Given the description of an element on the screen output the (x, y) to click on. 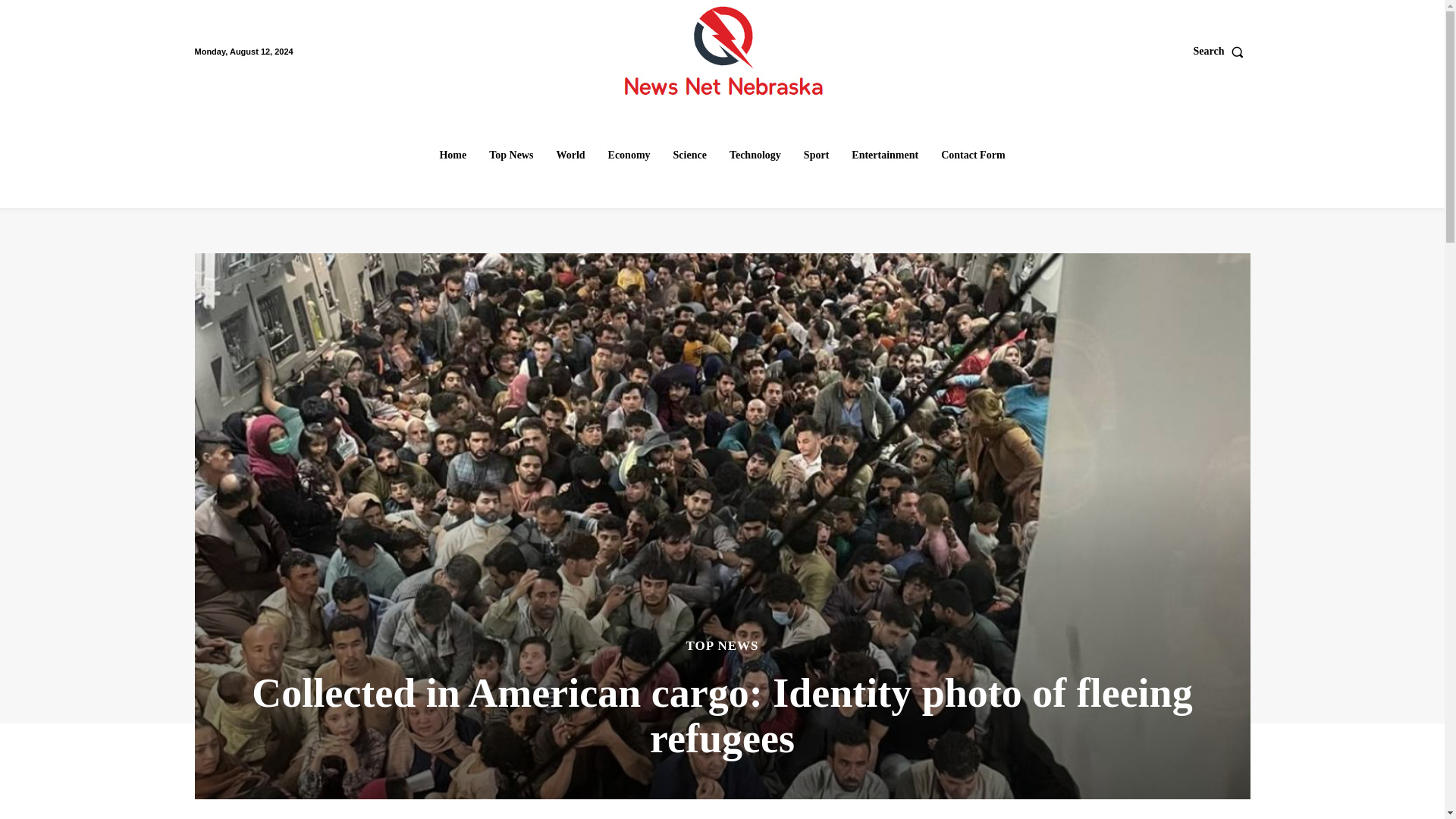
Contact Form (972, 155)
Top News (510, 155)
TOP NEWS (721, 645)
Science (689, 155)
Economy (628, 155)
Entertainment (885, 155)
Sport (815, 155)
Technology (755, 155)
Search (1221, 51)
World (570, 155)
